Given the description of an element on the screen output the (x, y) to click on. 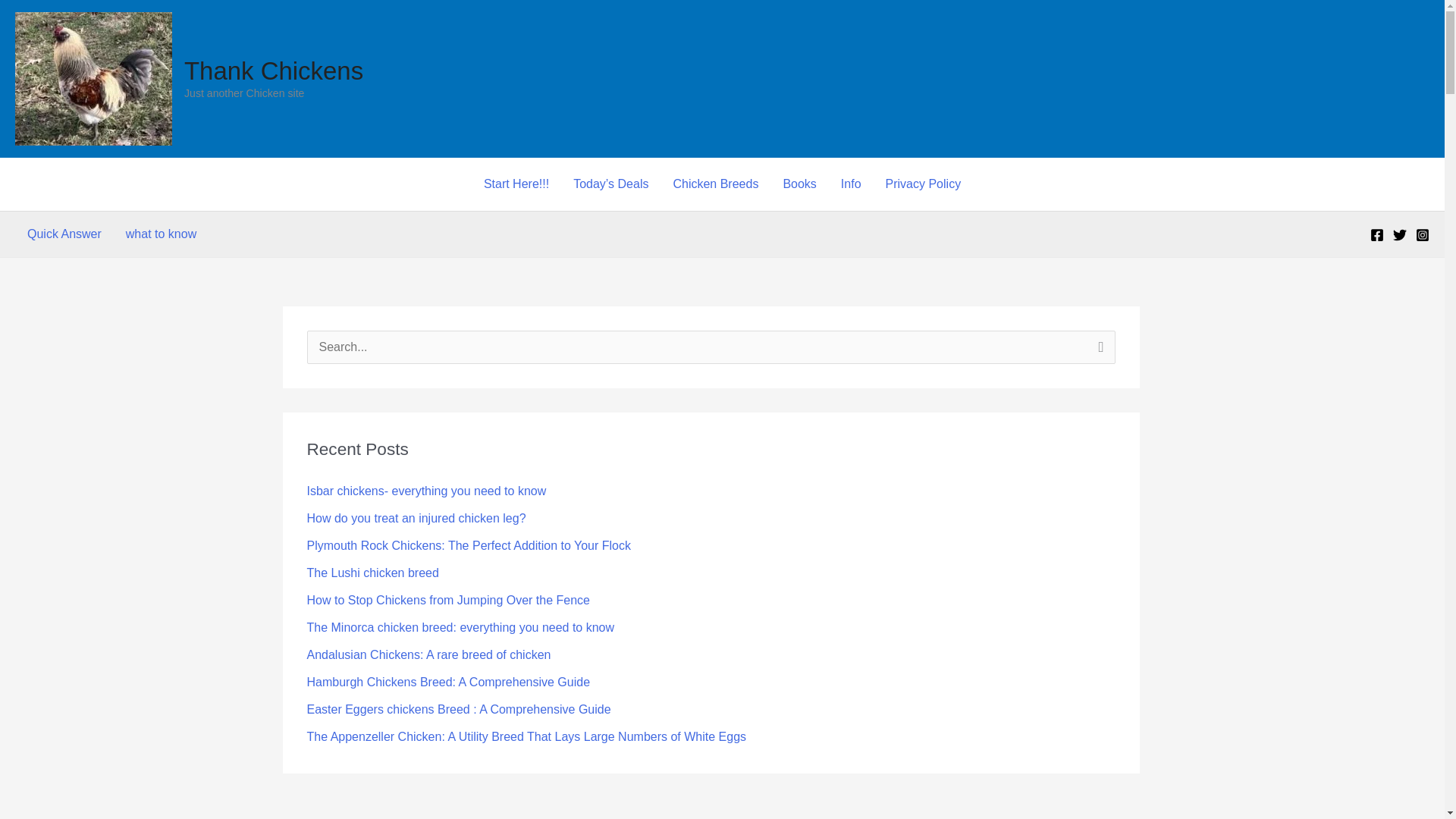
Thank Chickens (273, 70)
Andalusian Chickens: A rare breed of chicken (427, 654)
Chicken Breeds (715, 184)
Easter Eggers chickens Breed : A Comprehensive Guide (457, 708)
Start Here!!! (515, 184)
The Lushi chicken breed (371, 572)
Isbar chickens- everything you need to know (425, 490)
How do you treat an injured chicken leg? (415, 517)
Hamburgh Chickens Breed: A Comprehensive Guide (447, 681)
what to know (160, 234)
